Given the description of an element on the screen output the (x, y) to click on. 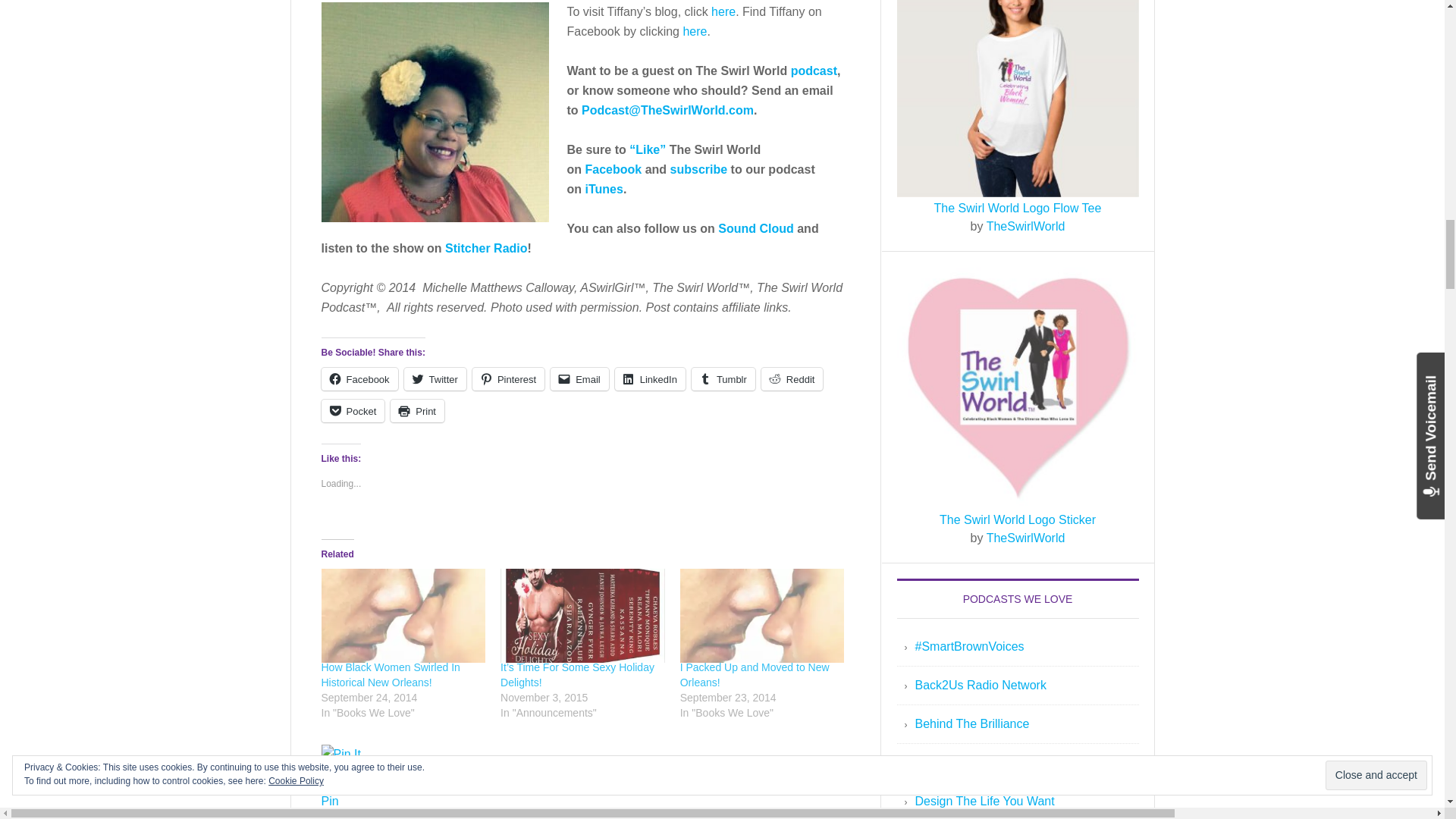
Click to share on Tumblr (723, 378)
Stitcher Radio (486, 247)
podcast (813, 70)
How Black Women Swirled In Historical New Orleans! (403, 615)
Click to print (417, 410)
Click to share on Facebook (359, 378)
iTunes (604, 188)
How Black Women Swirled In Historical New Orleans! (390, 674)
here (694, 31)
Reddit (792, 378)
Click to share on Twitter (434, 378)
Tumblr (723, 378)
Sound Cloud (755, 228)
Click to share on LinkedIn (649, 378)
Print (417, 410)
